Given the description of an element on the screen output the (x, y) to click on. 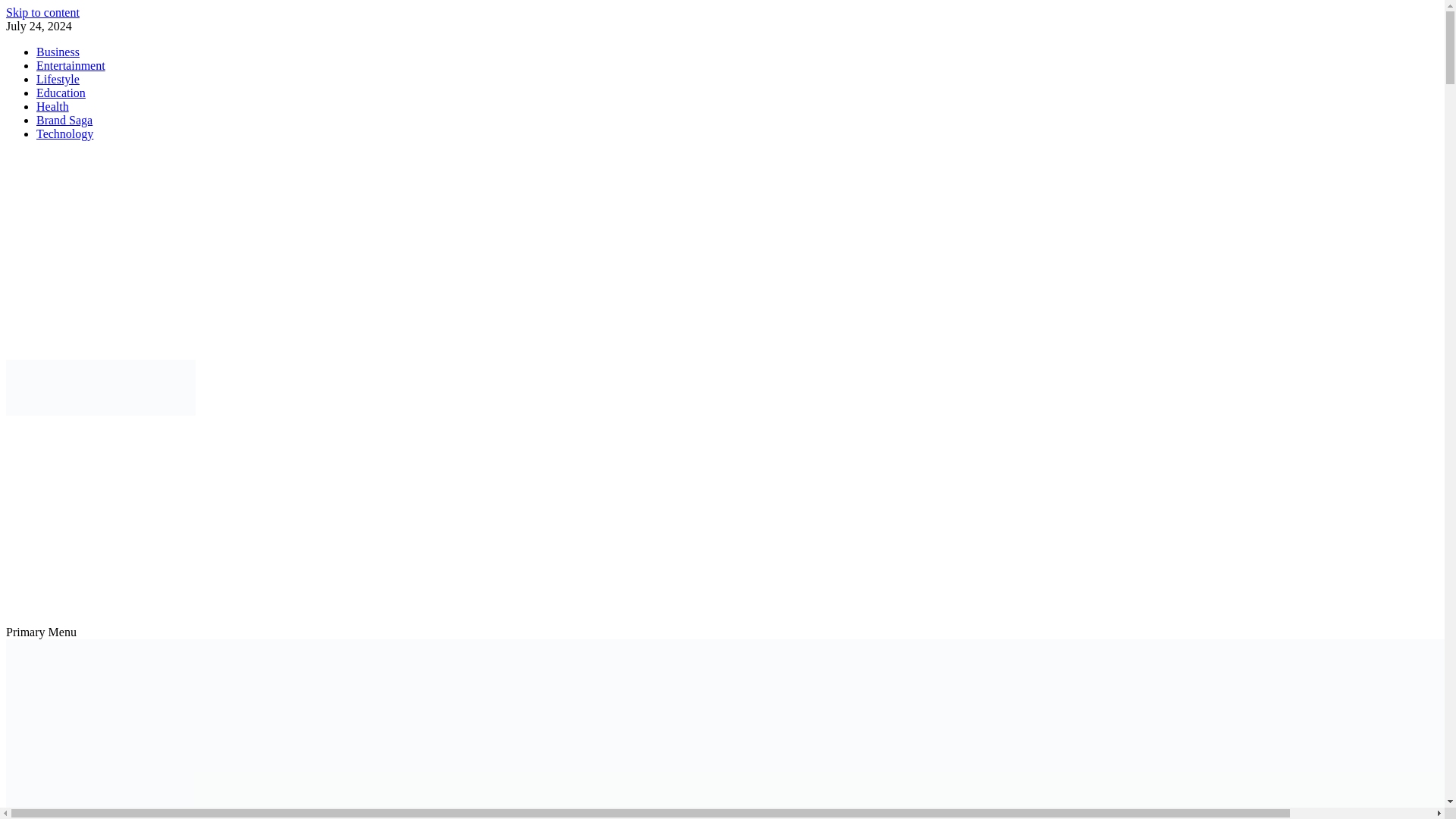
Lifestyle (58, 78)
Technology (64, 133)
Education (60, 92)
Health (52, 106)
Business (58, 51)
Primary Menu (41, 631)
Entertainment (70, 65)
Skip to content (42, 11)
Brand Saga (64, 119)
